Given the description of an element on the screen output the (x, y) to click on. 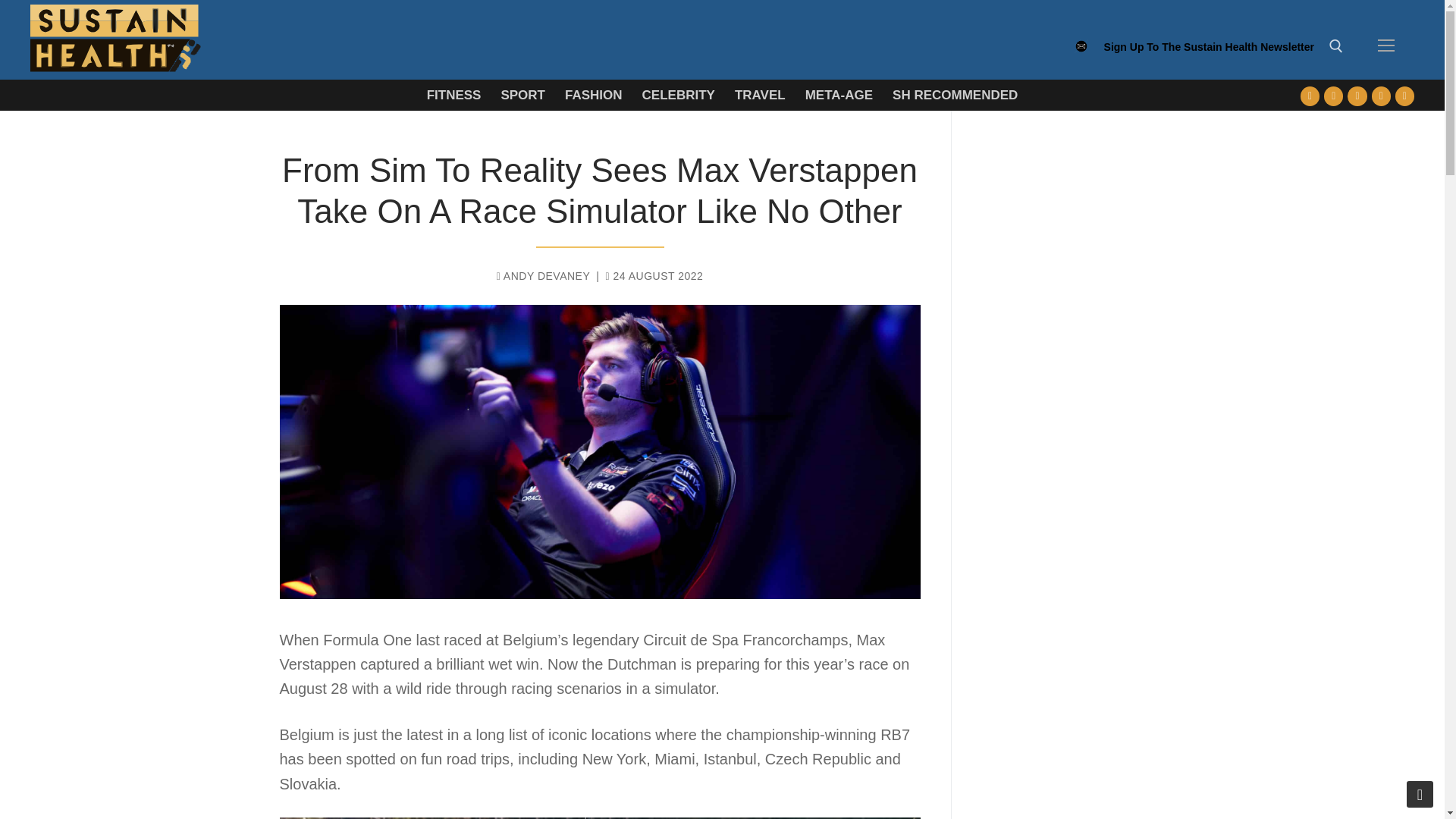
Youtube (1357, 95)
SH RECOMMENDED (954, 94)
FASHION (592, 94)
Twitter (1333, 95)
TRAVEL (759, 94)
SPORT (522, 94)
FITNESS (454, 94)
ANDY DEVANEY (543, 275)
META-AGE (838, 94)
CELEBRITY (678, 94)
